Given the description of an element on the screen output the (x, y) to click on. 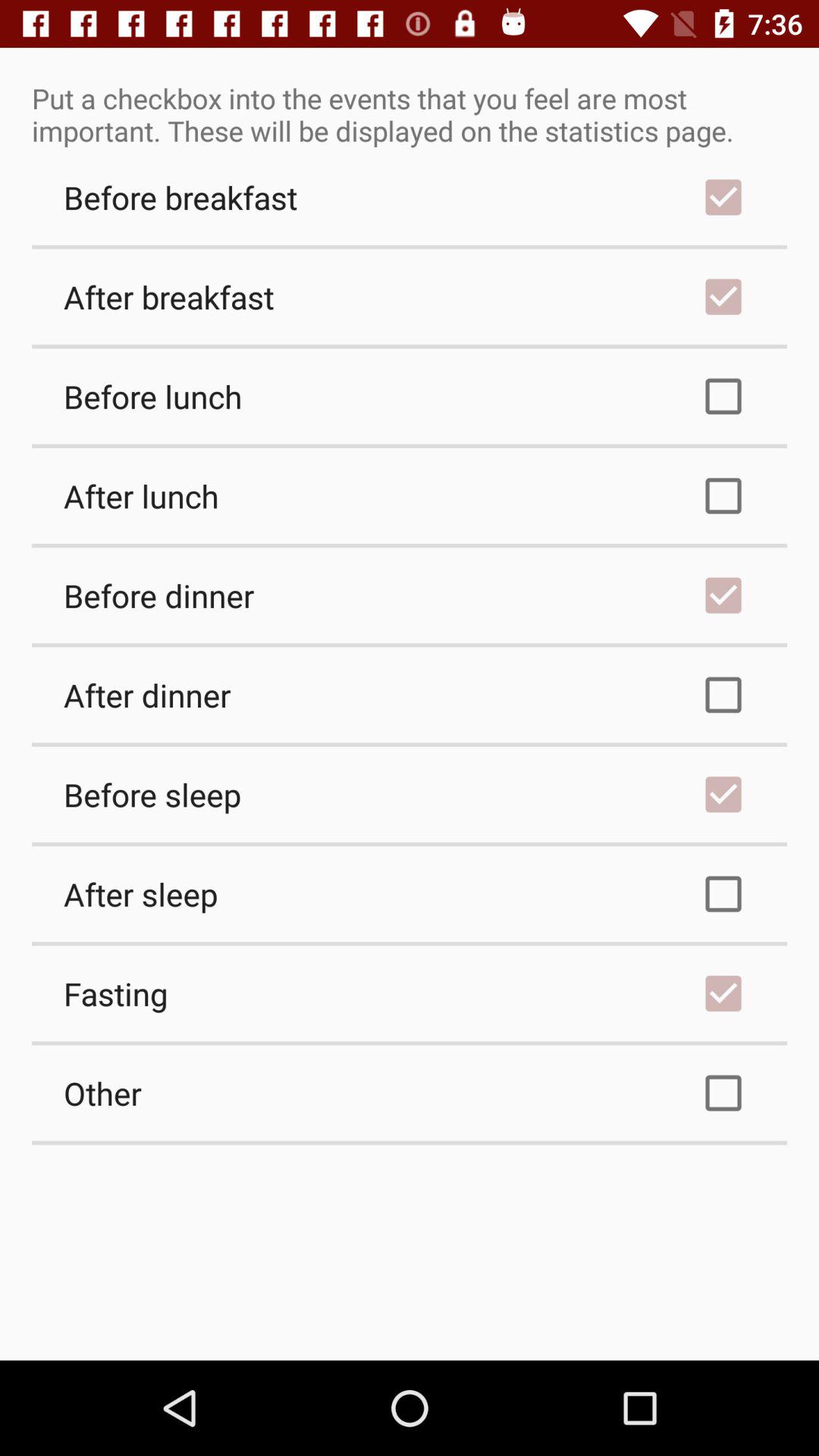
jump to before lunch (409, 396)
